Given the description of an element on the screen output the (x, y) to click on. 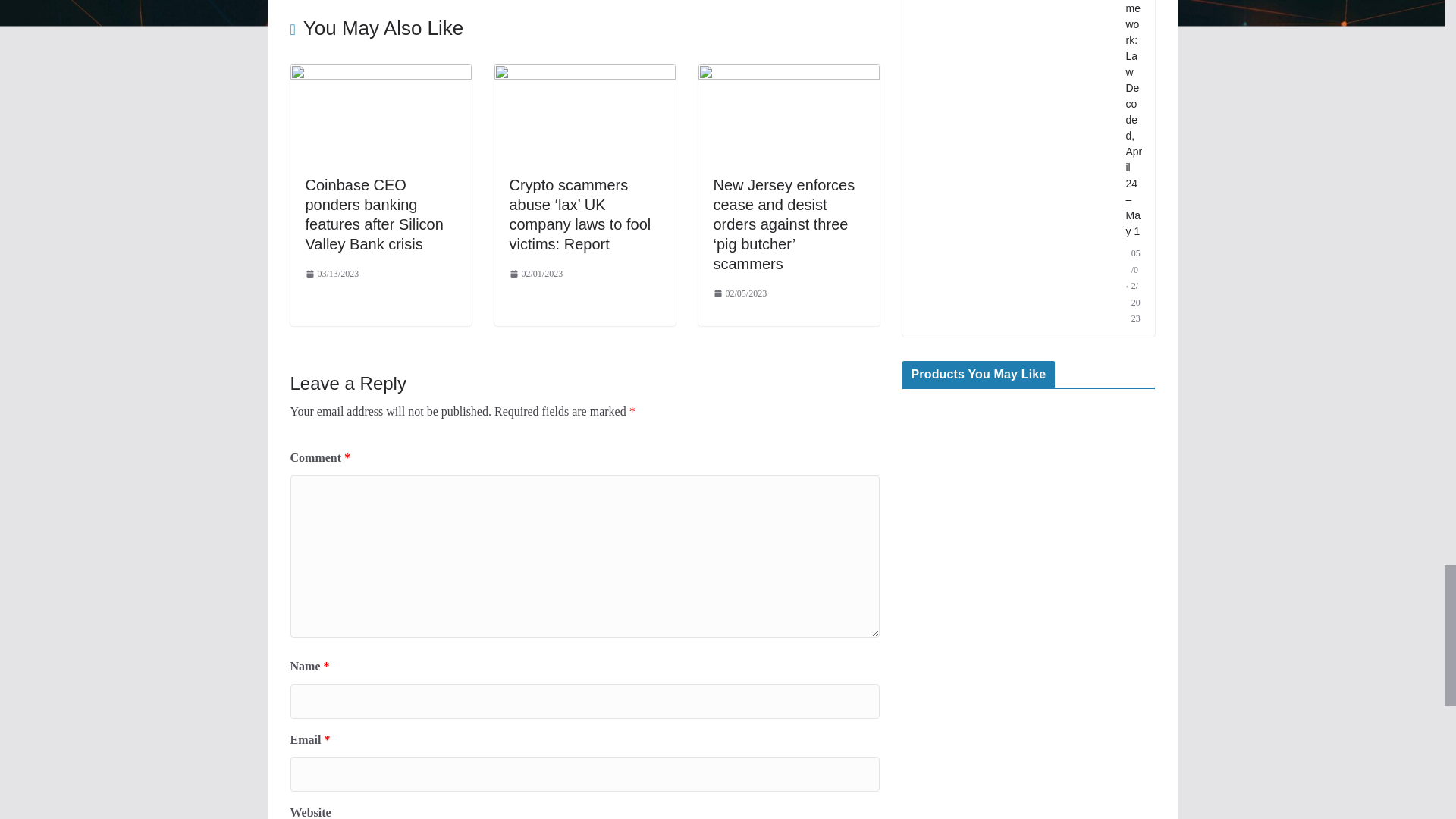
1:35 am (536, 274)
6:19 am (331, 274)
